Given the description of an element on the screen output the (x, y) to click on. 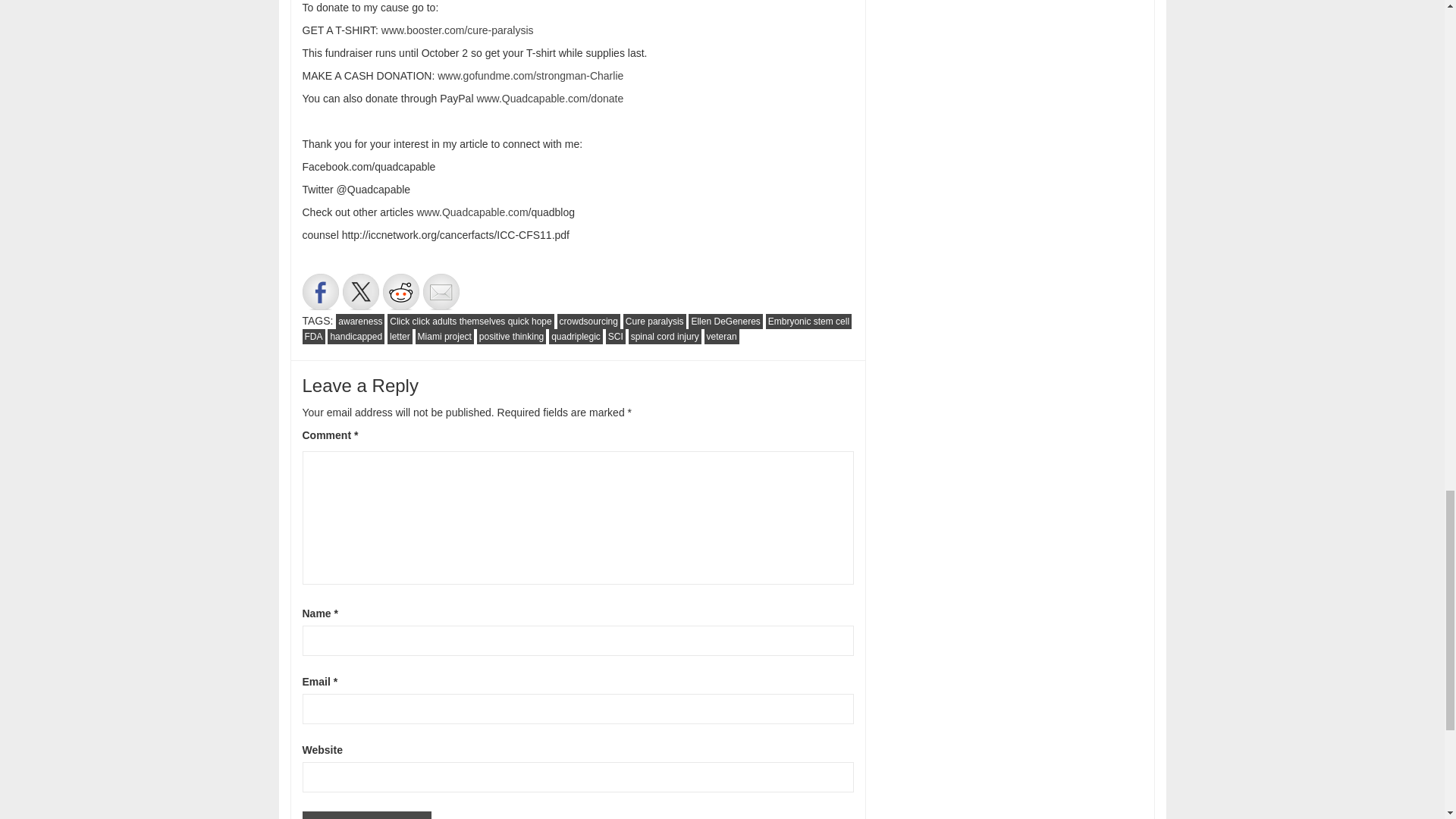
Share on Reddit (400, 291)
awareness (360, 321)
crowdsourcing (588, 321)
www.Quadcapable.com (471, 212)
Share on Facebook (319, 291)
Click click adults themselves quick hope (470, 321)
Share on Twitter (360, 291)
Post Comment (365, 815)
